Given the description of an element on the screen output the (x, y) to click on. 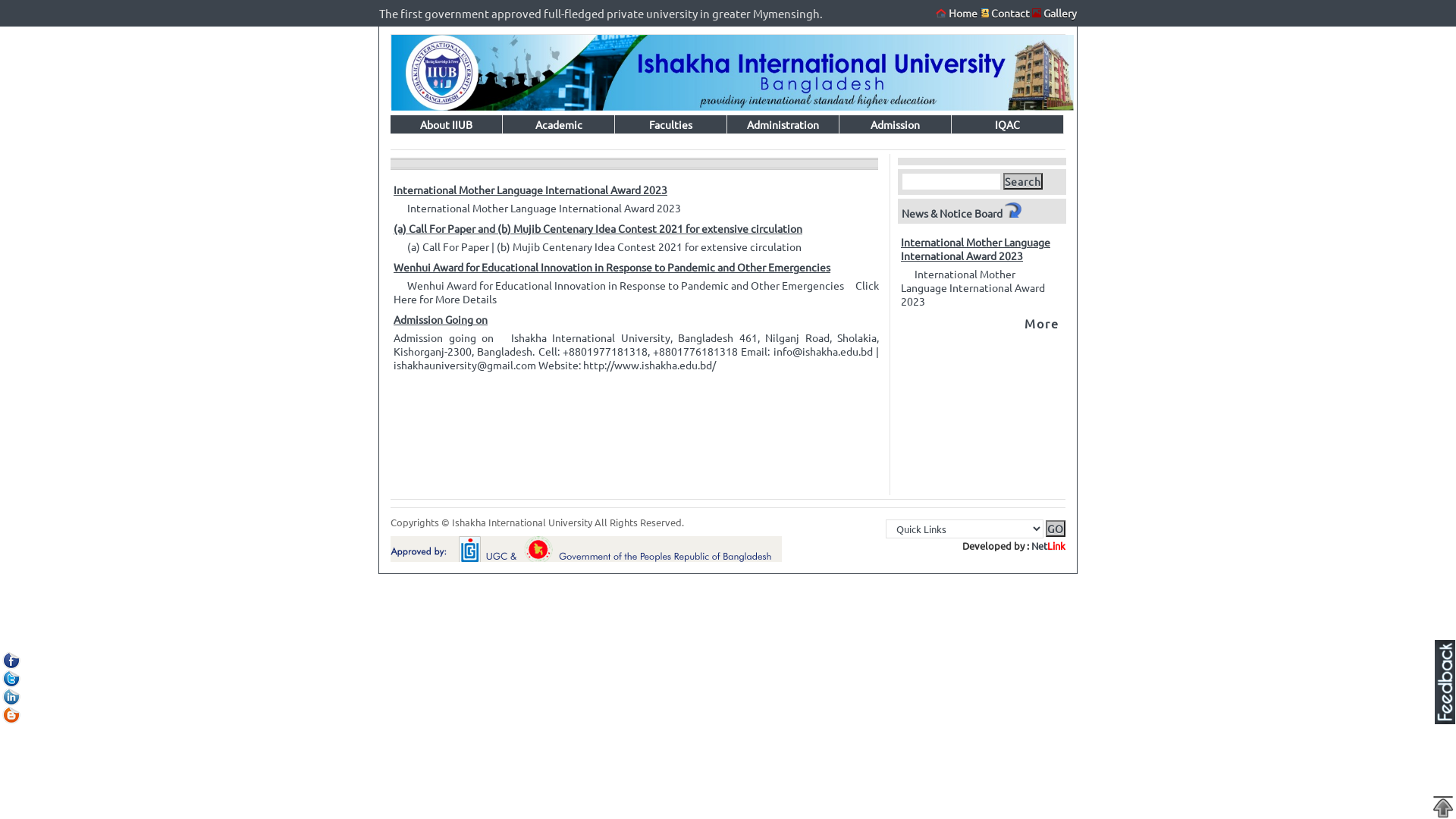
Academic Element type: text (558, 124)
      International Mother Language International Award 2023 Element type: text (981, 287)
IQAC Element type: text (1007, 124)
About IIUB Element type: text (446, 124)
Search Element type: text (1022, 180)
Faculties Element type: text (671, 124)
More Element type: text (1041, 322)
Home Element type: text (957, 12)
International Mother Language International Award 2023 Element type: text (636, 189)
Administration Element type: text (783, 124)
NetLink Element type: text (1048, 545)
Admission Going on Element type: text (636, 318)
Contact Element type: text (1005, 12)
International Mother Language International Award 2023 Element type: text (981, 211)
      International Mother Language International Award 2023 Element type: text (636, 207)
GO Element type: text (1055, 528)
Gallery Element type: text (1059, 12)
Admission Element type: text (895, 124)
